Given the description of an element on the screen output the (x, y) to click on. 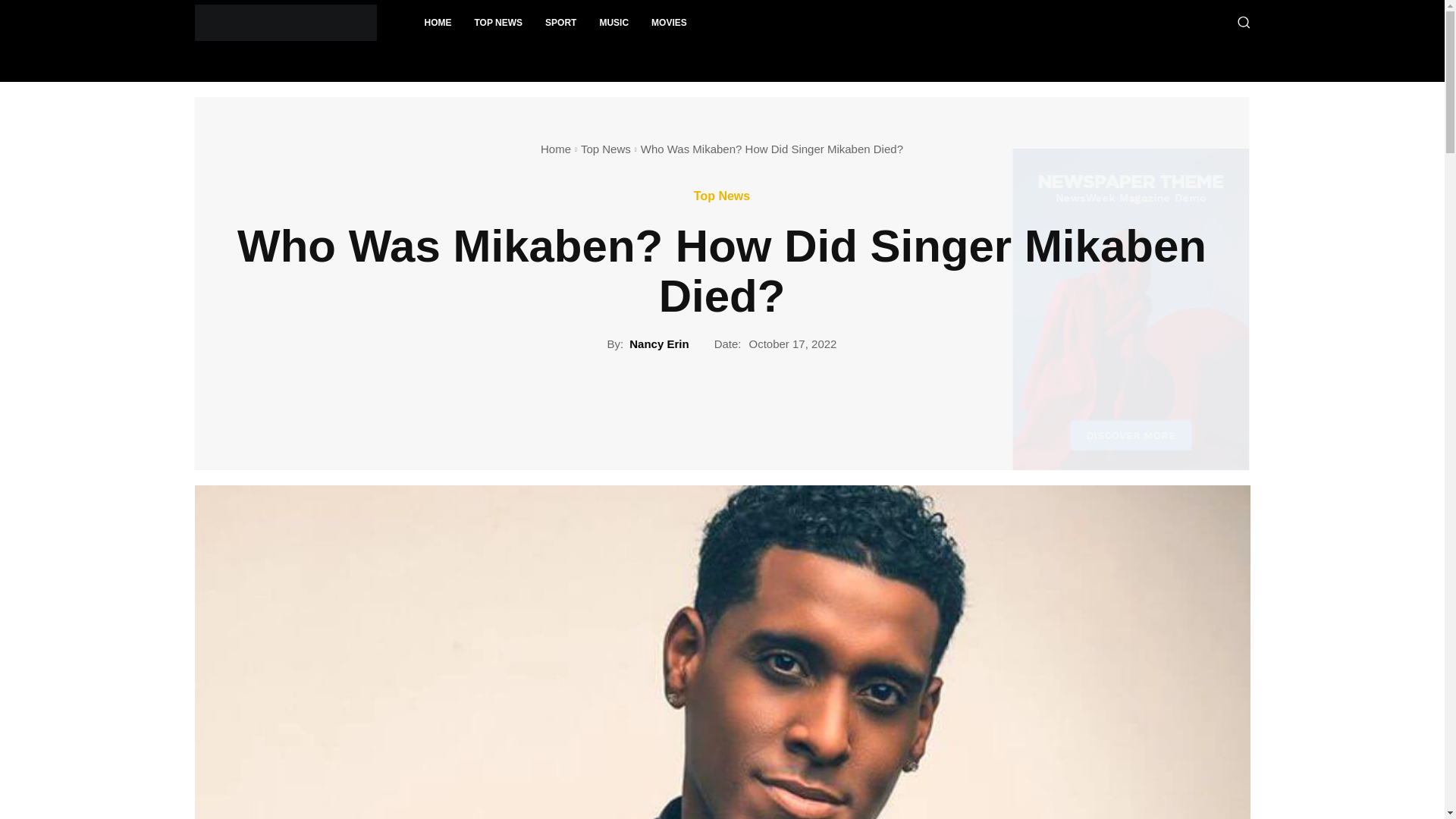
Nancy Erin (658, 344)
MUSIC (614, 22)
TOP NEWS (498, 22)
HOME (437, 22)
View all posts in Top News (605, 148)
Home (555, 148)
MOVIES (669, 22)
Top News (721, 196)
Top News (605, 148)
SPORT (561, 22)
